Given the description of an element on the screen output the (x, y) to click on. 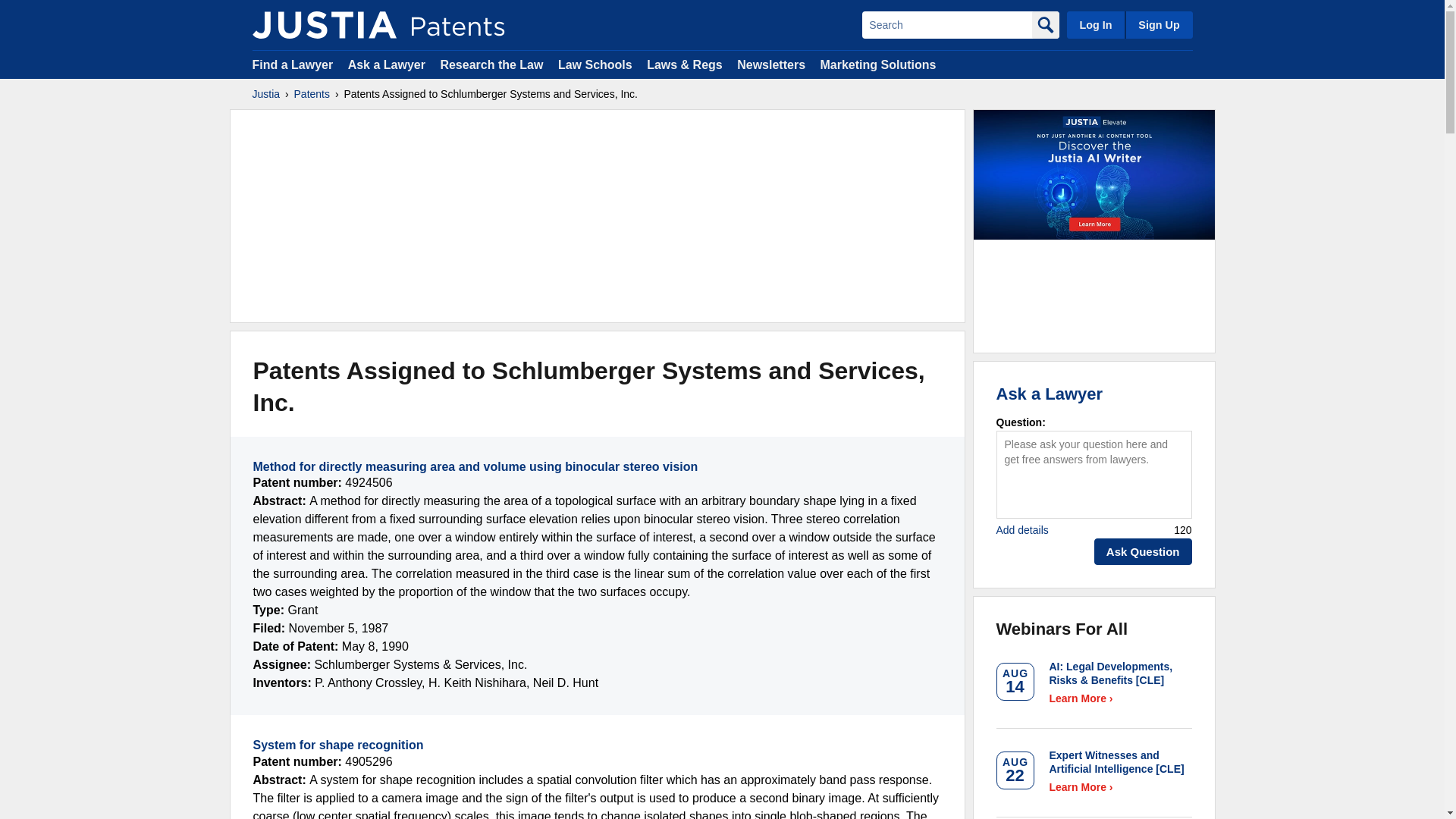
Find a Lawyer (292, 64)
Patents (312, 93)
Justia (265, 93)
Research the Law (491, 64)
Law Schools (594, 64)
Log In (1094, 24)
Ask a Lawyer (386, 64)
Search (945, 24)
